Given the description of an element on the screen output the (x, y) to click on. 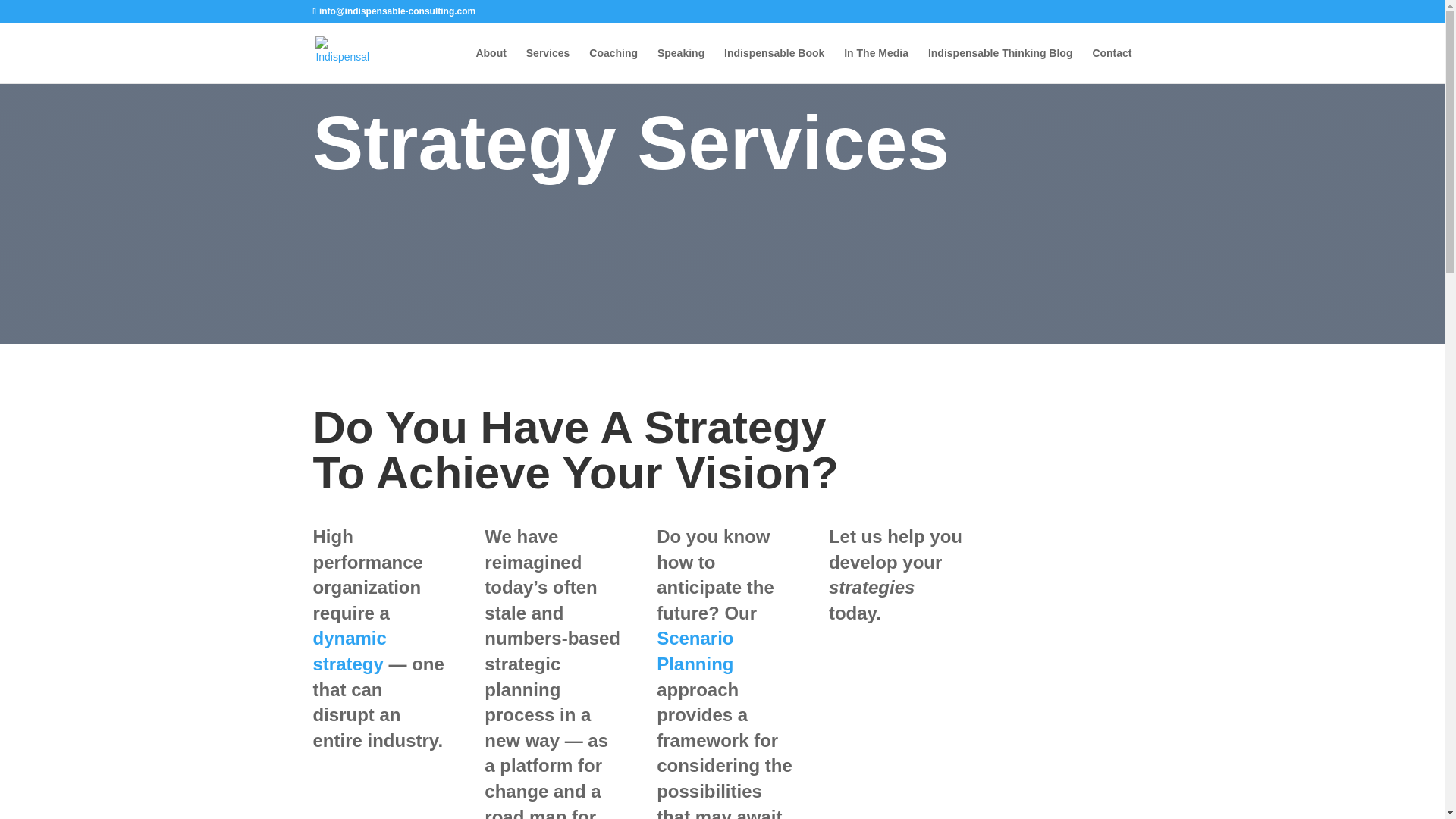
Contact (1111, 65)
Speaking (681, 65)
dynamic strategy (349, 651)
Services (547, 65)
Scenario Planning (694, 651)
In The Media (876, 65)
Coaching (613, 65)
Indispensable Book (773, 65)
Indispensable Thinking Blog (1000, 65)
